Given the description of an element on the screen output the (x, y) to click on. 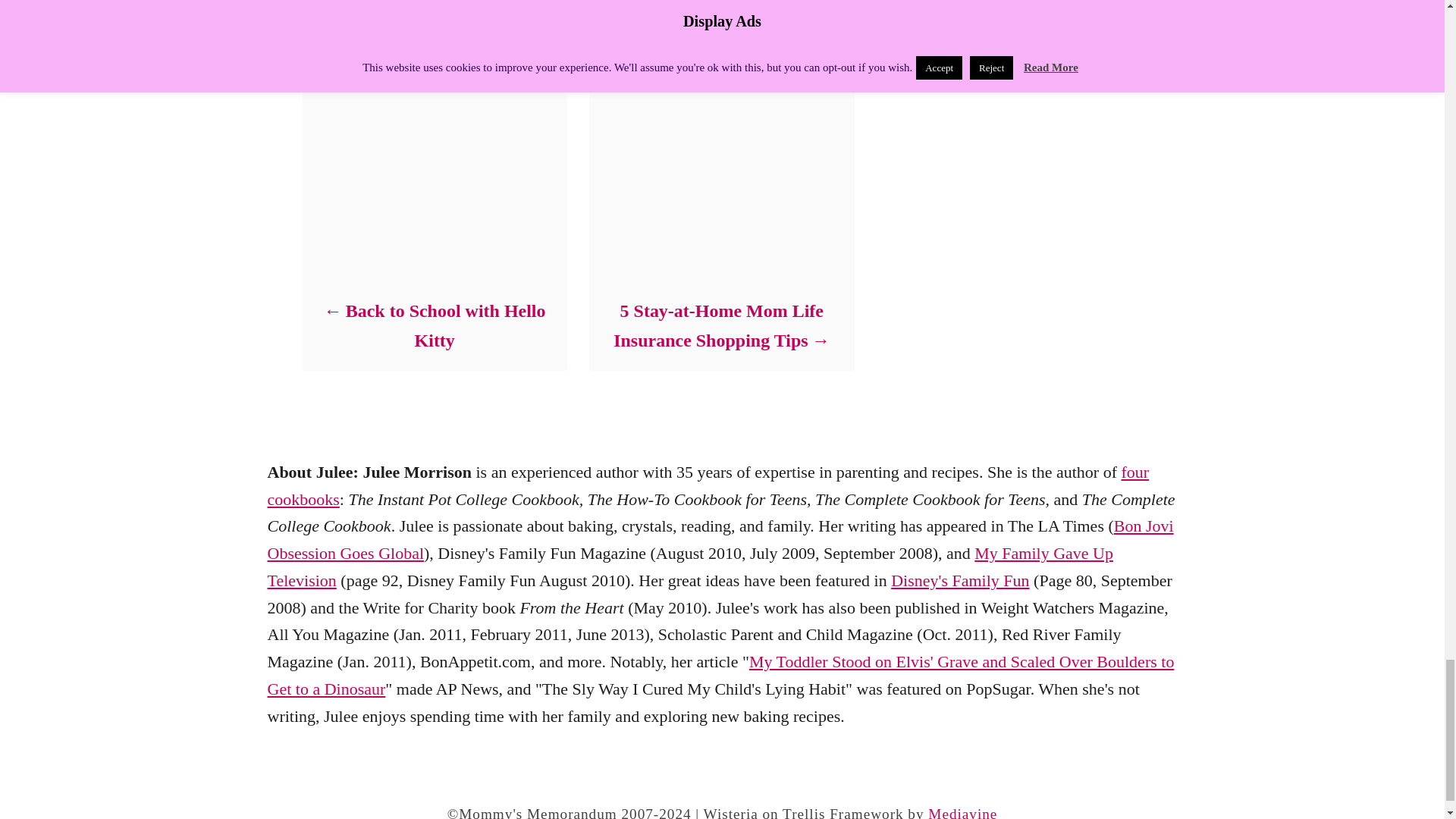
5 Stay-at-Home Mom Life Insurance Shopping Tips (721, 325)
Back to School with Hello Kitty (434, 325)
Bon Jovi Obsession Goes Global (719, 539)
My Family Gave Up Television (689, 566)
Disney's Family Fun (960, 579)
four cookbooks (707, 485)
